Given the description of an element on the screen output the (x, y) to click on. 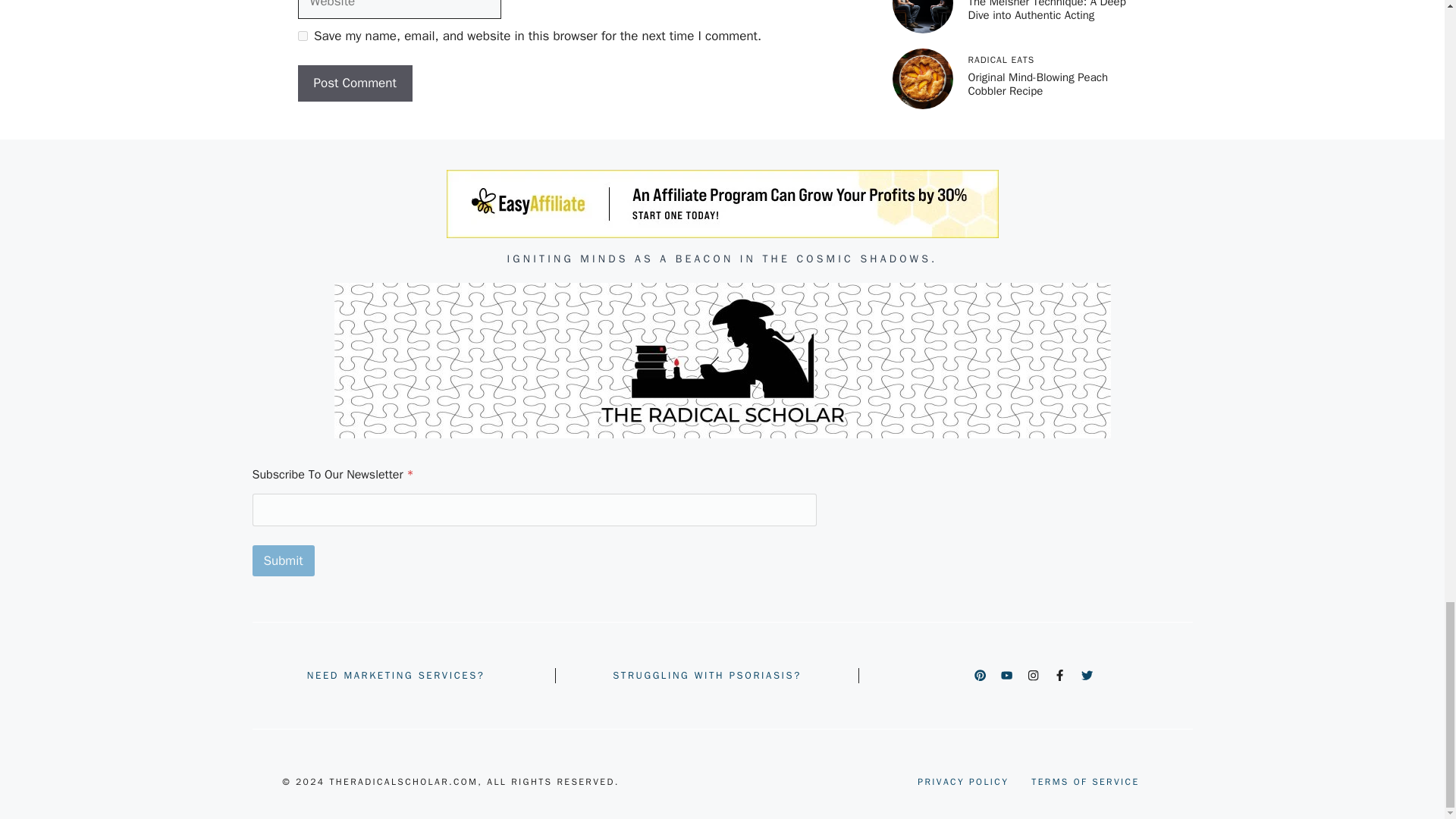
yes (302, 35)
Post Comment (354, 83)
EA Ad - 728x90 - Version 13 (721, 203)
